Given the description of an element on the screen output the (x, y) to click on. 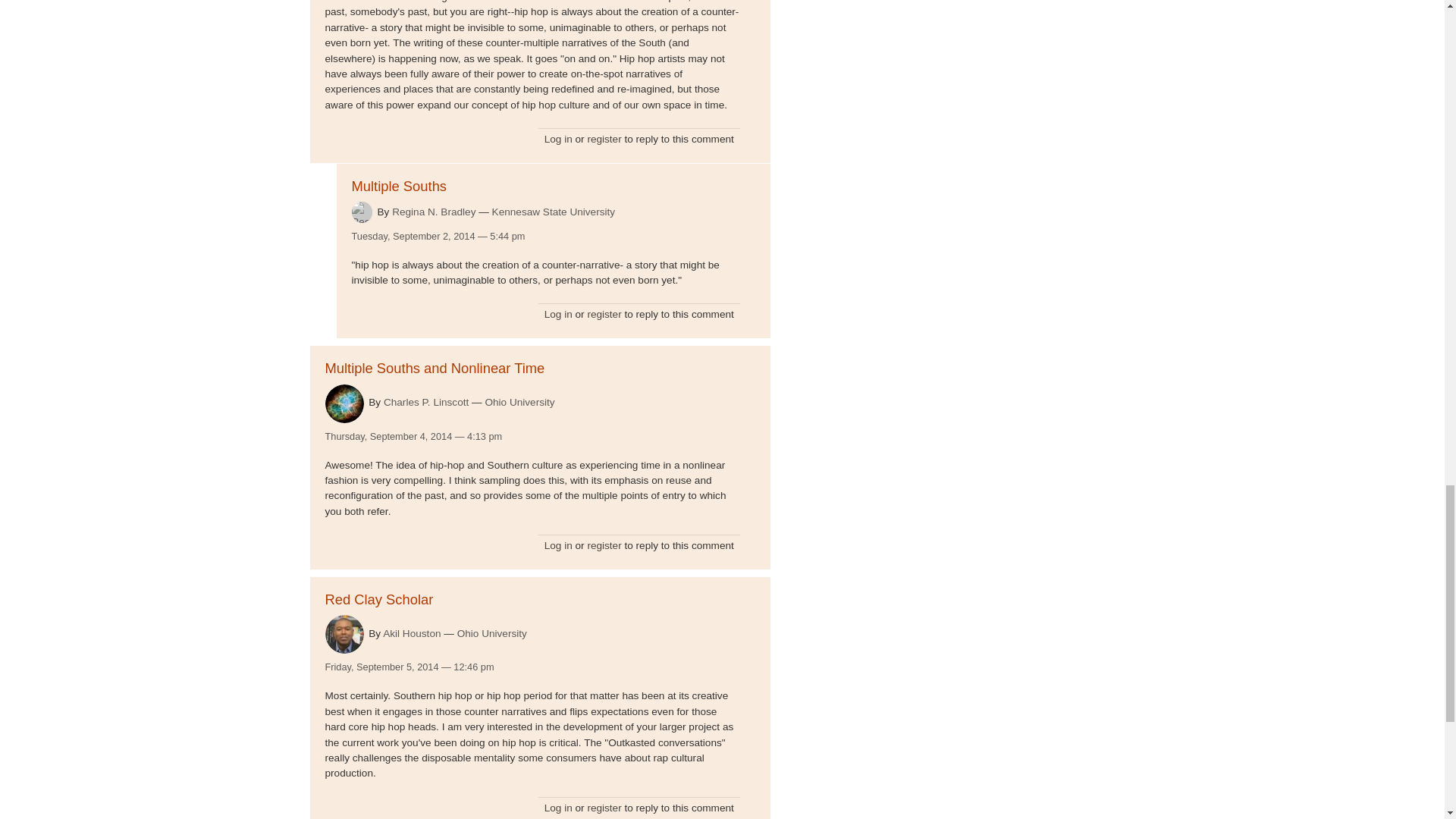
Kennesaw State University (553, 211)
Kennesaw State University (553, 211)
Regina N. Bradley (433, 211)
register (603, 138)
View user profile. (343, 634)
User profile: Akil Houston (411, 633)
Log in (558, 138)
User profile: Regina N. Bradley (433, 211)
User profile: Charles P. Linscott (426, 401)
View user profile. (362, 211)
